Given the description of an element on the screen output the (x, y) to click on. 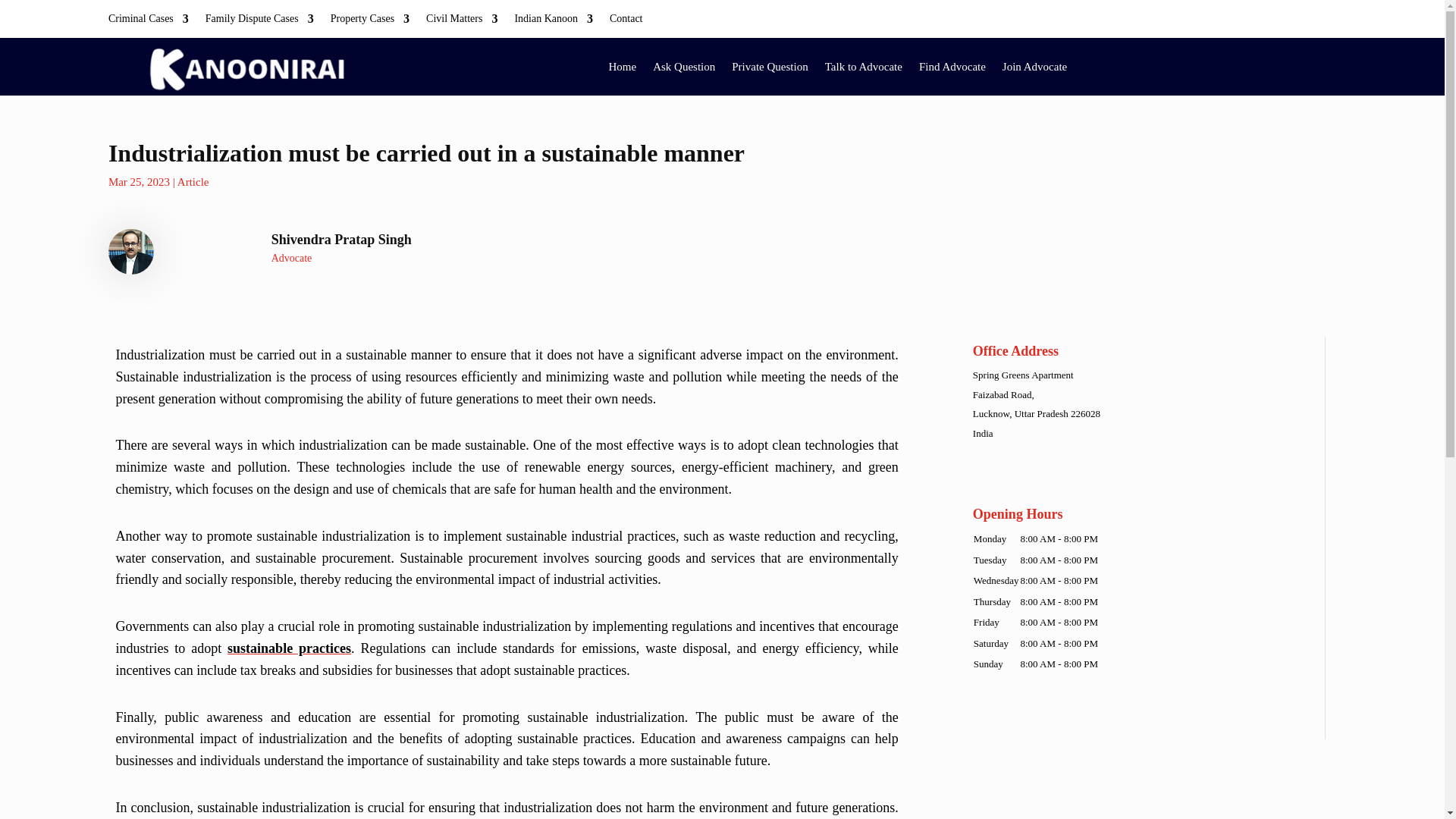
Indian Kanoon (552, 21)
Find Advocate (951, 66)
Join Advocate (1035, 66)
sustainable practices (288, 648)
Private Question (770, 66)
shivendra mini profile pic (130, 251)
Property Cases (369, 21)
Ask Question (683, 66)
Criminal Cases (148, 21)
Article (193, 182)
Talk to Advocate (863, 66)
Civil Matters (461, 21)
Contact (626, 21)
Family Dispute Cases (259, 21)
